Given the description of an element on the screen output the (x, y) to click on. 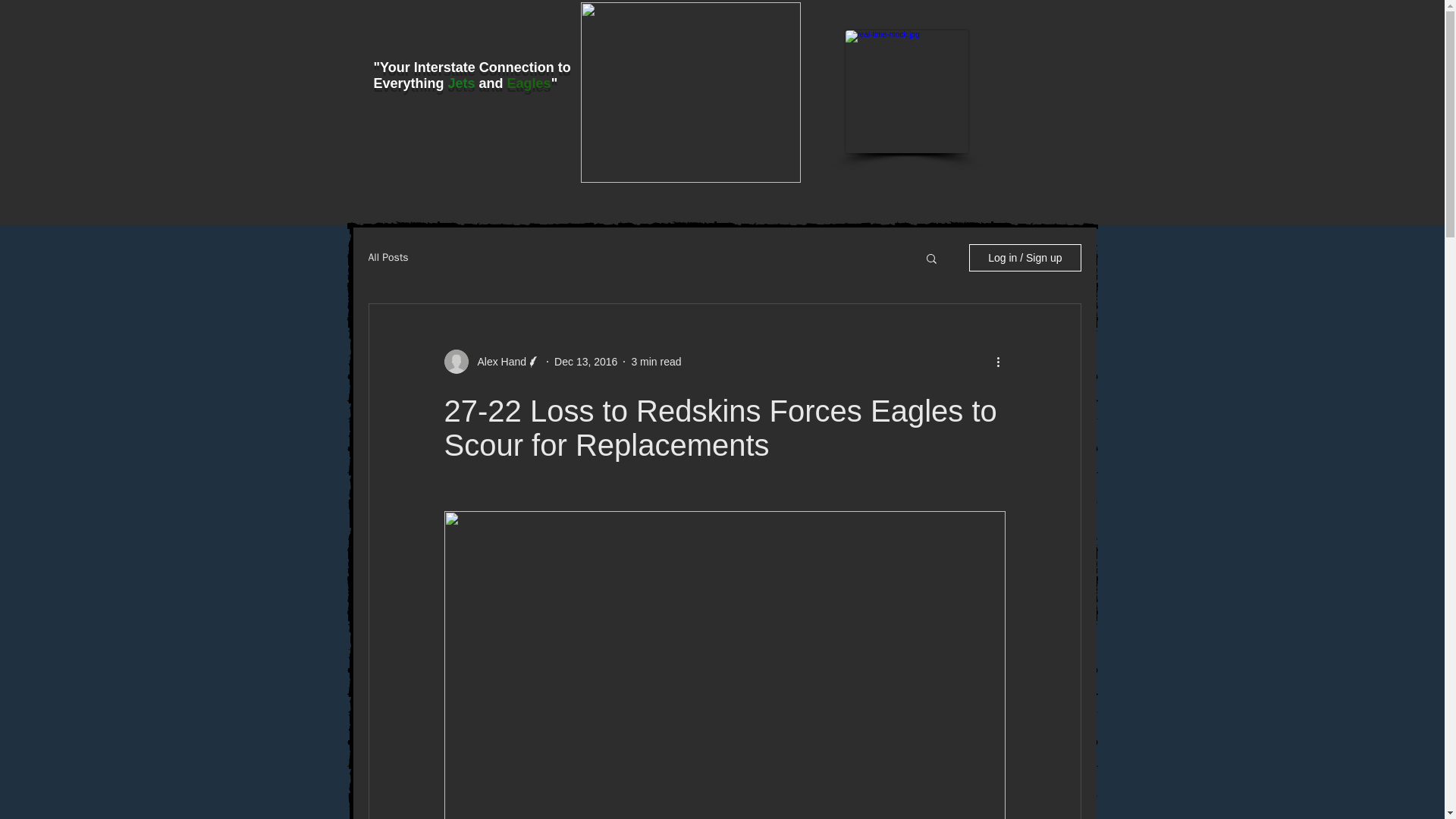
Dec 13, 2016 (585, 360)
All Posts (388, 257)
3 min read (655, 360)
Alex Hand (497, 360)
